Given the description of an element on the screen output the (x, y) to click on. 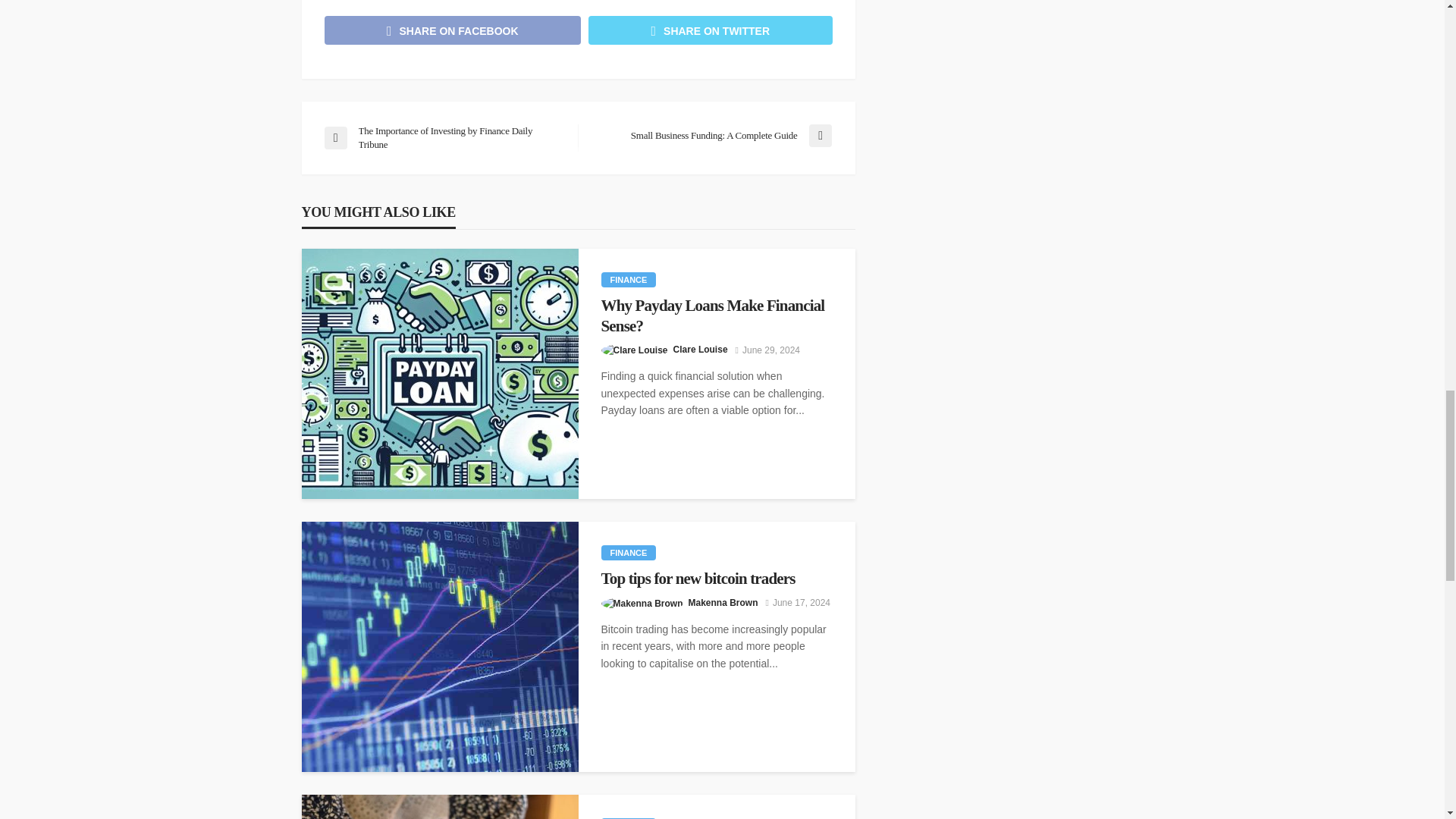
SHARE ON TWITTER (709, 29)
Top tips for new bitcoin traders (715, 578)
Clare Louise (700, 349)
Why Payday Loans Make Financial Sense? (439, 373)
Finance (627, 552)
FINANCE (627, 279)
Finance (627, 818)
Small Business Funding: A Complete Guide (711, 135)
The Importance of Investing by Finance Daily Tribune (443, 137)
How to Use Life Insurance as a Financial Planning Tool? (439, 806)
SHARE ON FACEBOOK (452, 29)
Top tips for new bitcoin traders (439, 646)
The Importance of Investing by Finance Daily Tribune (443, 137)
FINANCE (627, 552)
Finance (627, 279)
